Given the description of an element on the screen output the (x, y) to click on. 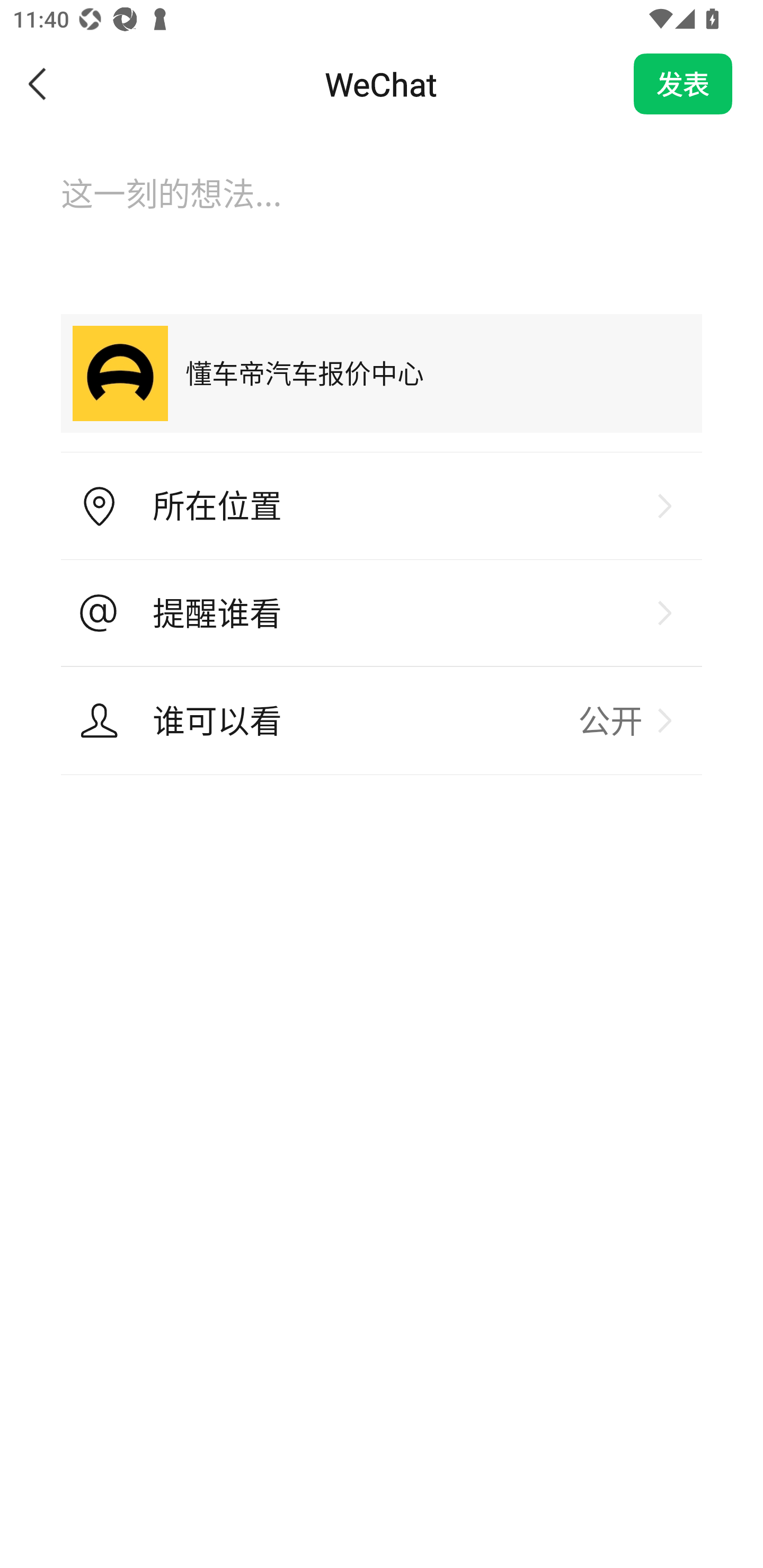
返回 (38, 83)
发表 (683, 83)
这一刻的想法... (381, 211)
懂车帝汽车报价中心 (381, 372)
所在位置 (381, 506)
提醒谁看  提醒谁看 (381, 612)
谁可以看 公开 (381, 720)
